Given the description of an element on the screen output the (x, y) to click on. 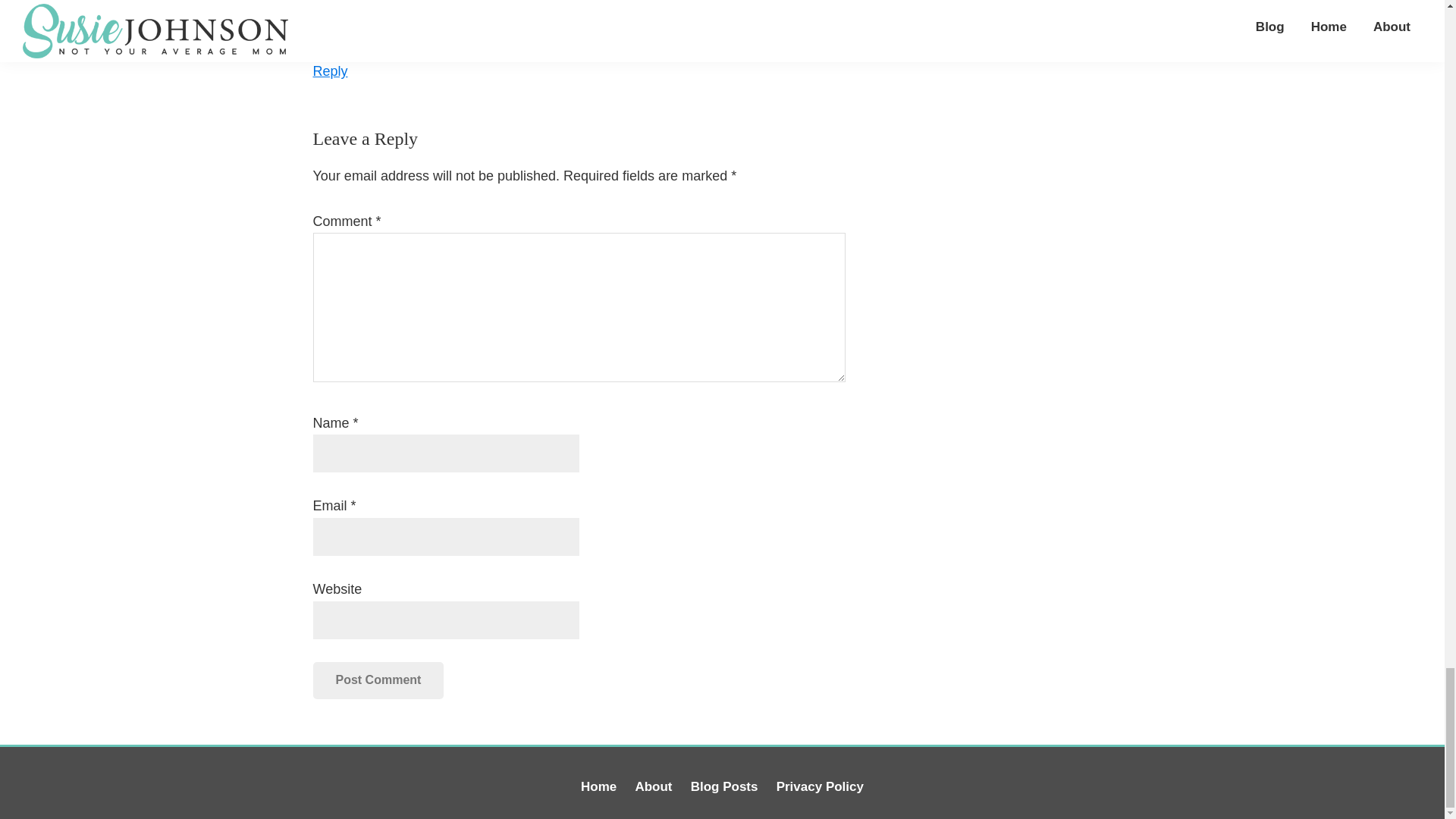
Post Comment (378, 679)
About (652, 786)
Blog Posts (724, 786)
Privacy Policy (819, 786)
Reply (330, 70)
Home (597, 786)
Post Comment (378, 679)
